Given the description of an element on the screen output the (x, y) to click on. 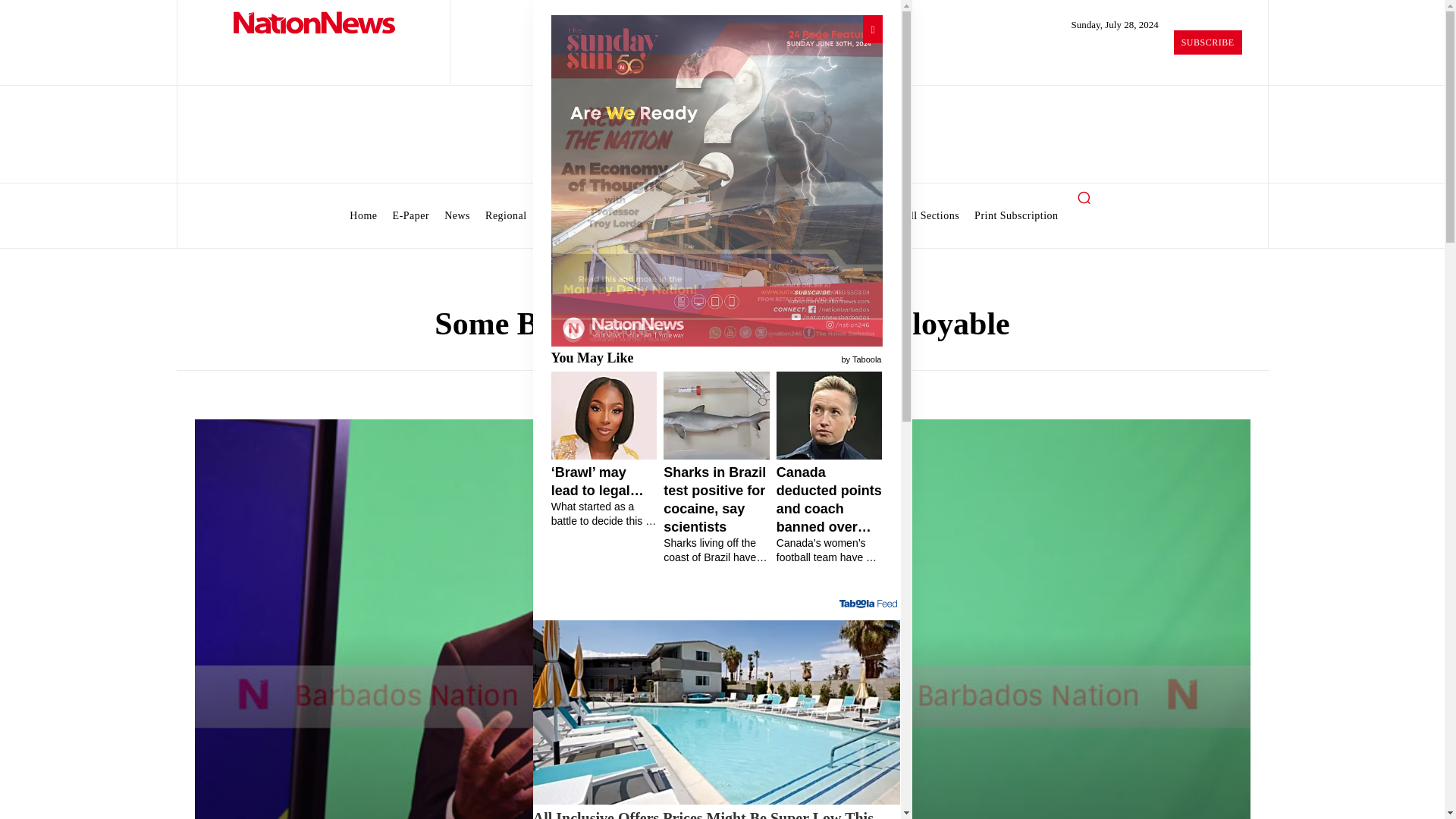
Canada deducted points and coach banned over drone (829, 514)
by Taboola (860, 357)
NEW COLOUMIST (716, 180)
All Inclusive Offers Prices Might Be Super Low This Year (716, 813)
Sharks in Brazil test positive for cocaine, say scientists (716, 514)
